Given the description of an element on the screen output the (x, y) to click on. 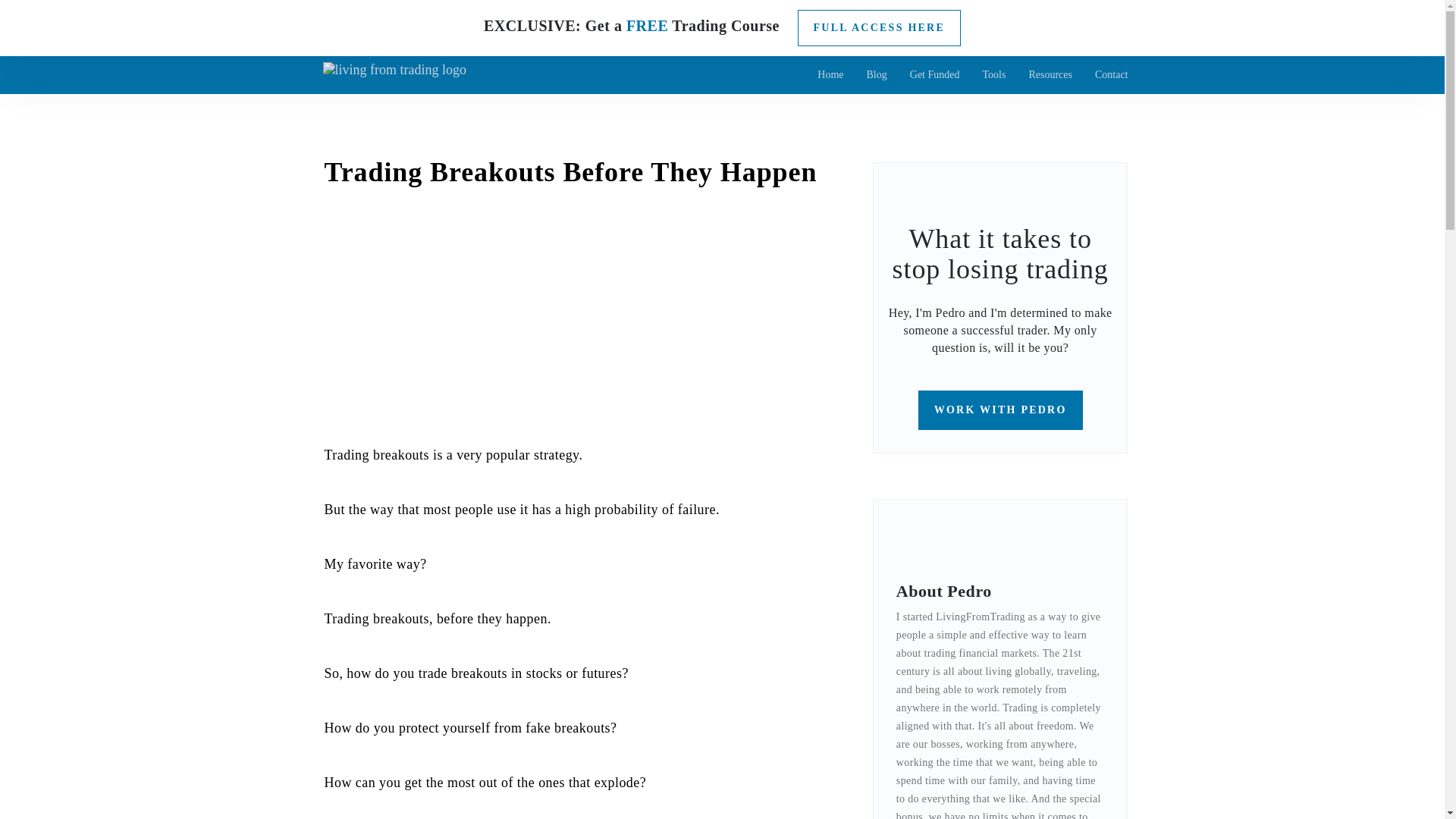
FULL ACCESS HERE (878, 27)
Tools (993, 75)
Resources (1049, 75)
Blog (877, 75)
Get Funded (934, 75)
Contact (1111, 75)
Get Funded (934, 75)
Home (830, 75)
Blog (877, 75)
WORK WITH PEDRO (1000, 409)
Resources (1049, 75)
WORK WITH PEDRO (1000, 409)
Tools (993, 75)
Home (830, 75)
FULL ACCESS HERE (871, 27)
